Given the description of an element on the screen output the (x, y) to click on. 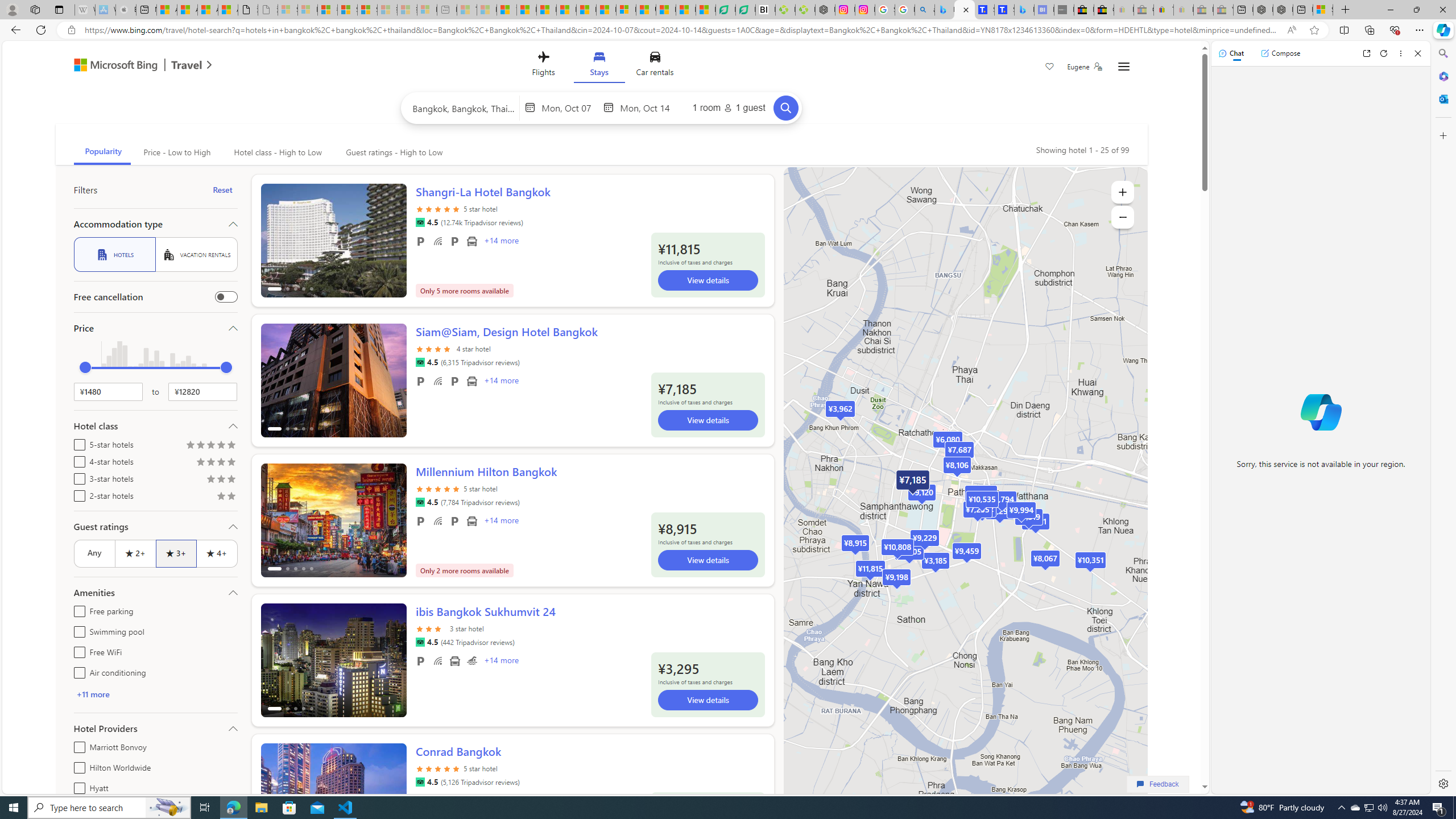
Safety in Our Products - Google Safety Center (884, 9)
Marriott Bonvoy (76, 745)
Free parking (76, 609)
Valet parking (454, 520)
Microsoft Services Agreement - Sleeping (306, 9)
Wikipedia - Sleeping (84, 9)
Microsoft Bing Travel (130, 65)
Zoom in (1122, 191)
Microsoft account | Account Checkup - Sleeping (427, 9)
Foo BAR | Trusted Community Engagement and Contributions (606, 9)
3-star hotels (76, 476)
